Given the description of an element on the screen output the (x, y) to click on. 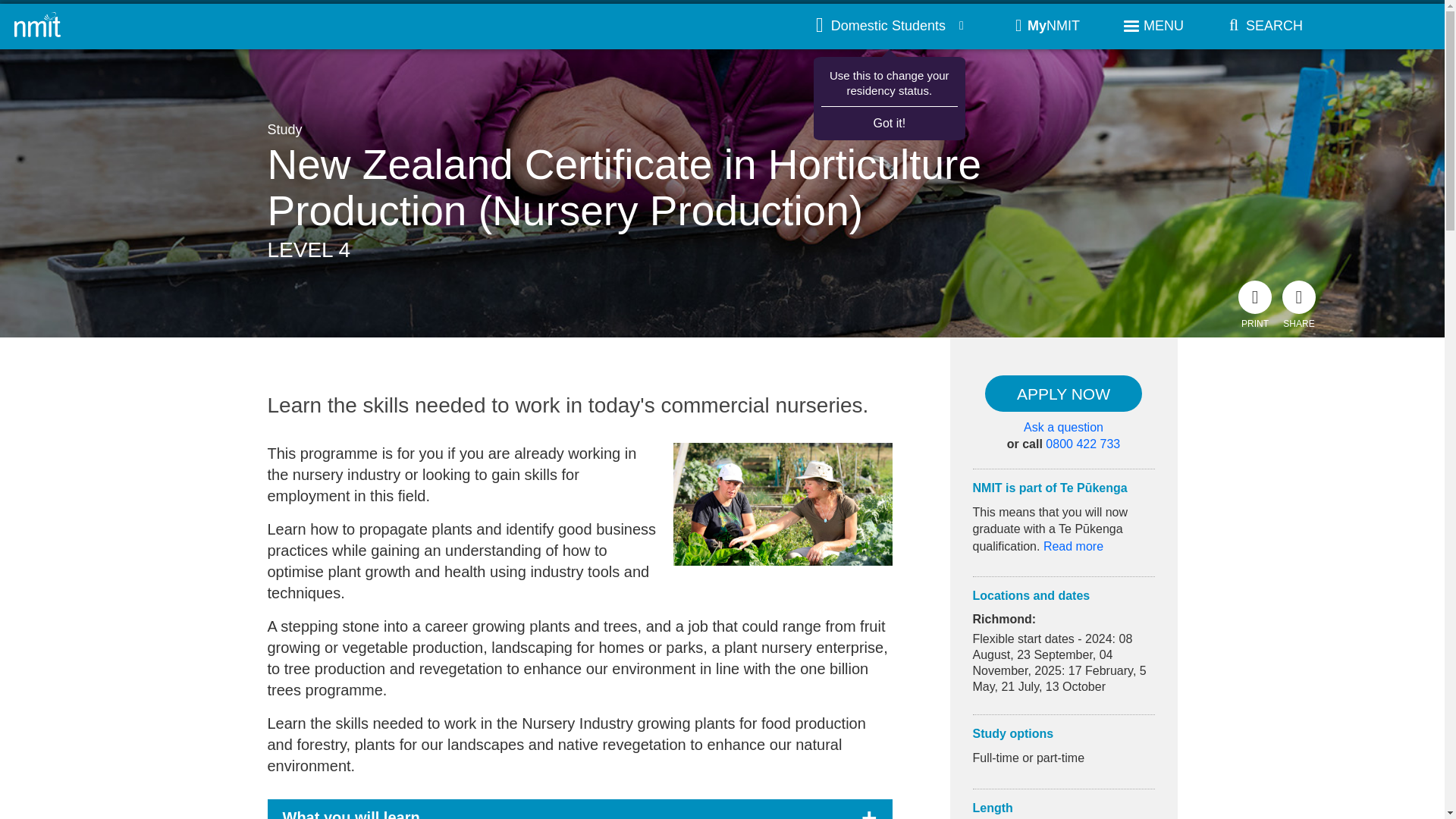
Ask a question (1063, 427)
SEARCH (1261, 26)
Domestic Students (889, 26)
MENU (1152, 26)
NMIT - link to home page (37, 26)
MyNMIT (1047, 26)
